Given the description of an element on the screen output the (x, y) to click on. 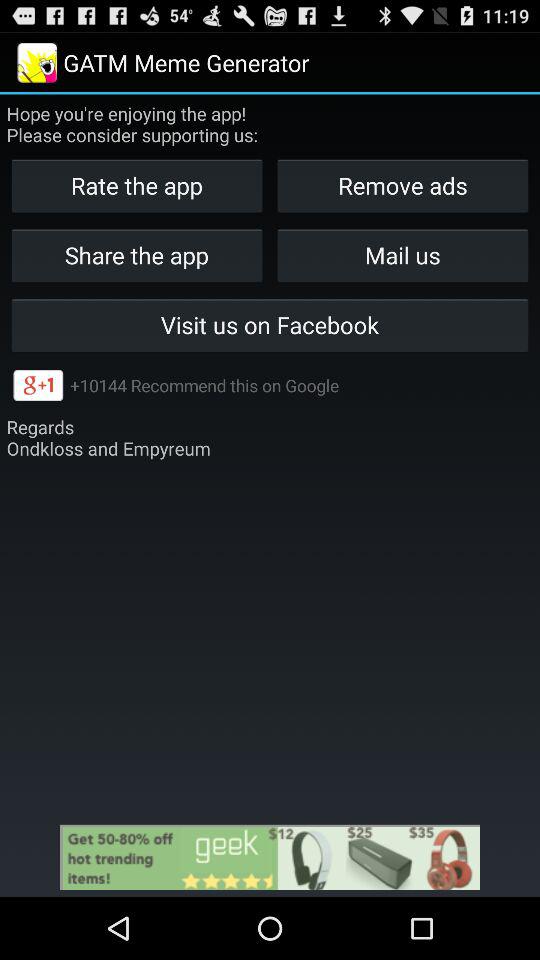
select the item next to the rate the app button (402, 254)
